Given the description of an element on the screen output the (x, y) to click on. 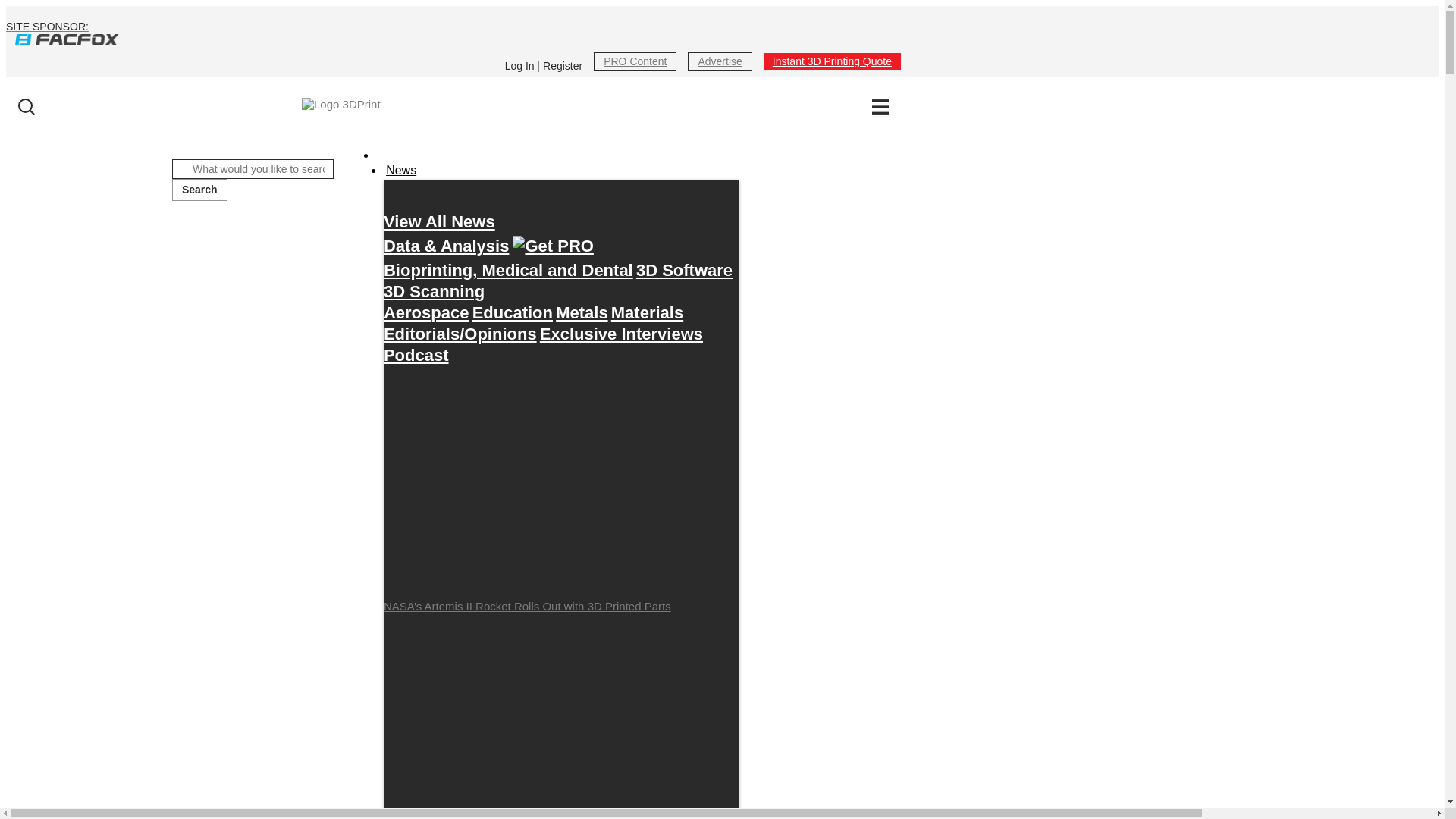
Bioprinting, Medical and Dental (508, 269)
Metals (581, 312)
SITE SPONSOR: (453, 32)
View All News (439, 221)
Search (199, 190)
3D Scanning (434, 291)
Exclusive Interviews (621, 333)
Aerospace (426, 312)
PRO Content (635, 60)
Register (562, 65)
3D Software (684, 269)
Materials (646, 312)
Podcast (416, 355)
Log In (519, 65)
Advertise (719, 60)
